Given the description of an element on the screen output the (x, y) to click on. 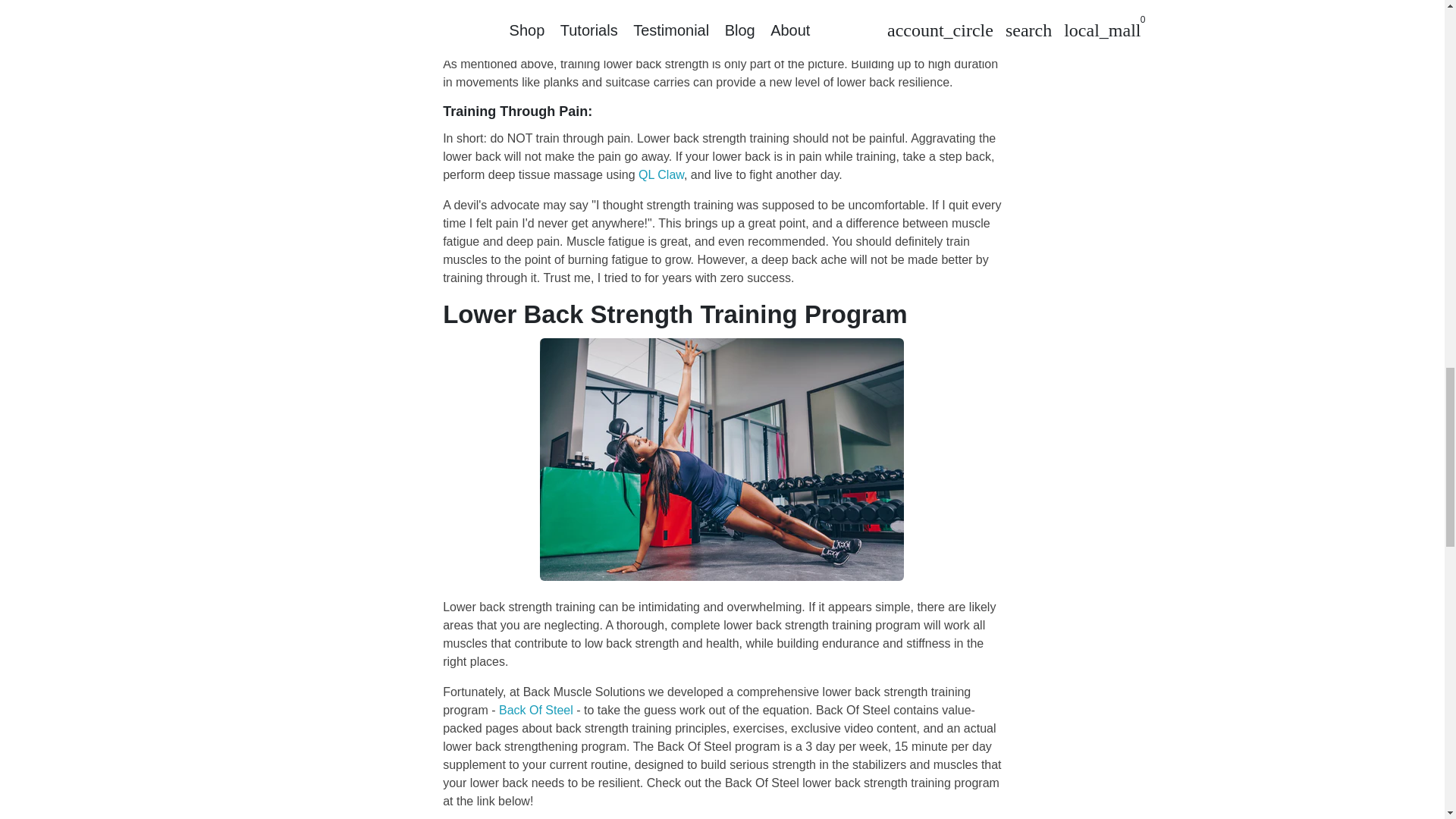
Lower Back Strength Training Program (536, 709)
Back Of Steel (536, 709)
QL Claw (661, 174)
QL Release Device (661, 174)
